Given the description of an element on the screen output the (x, y) to click on. 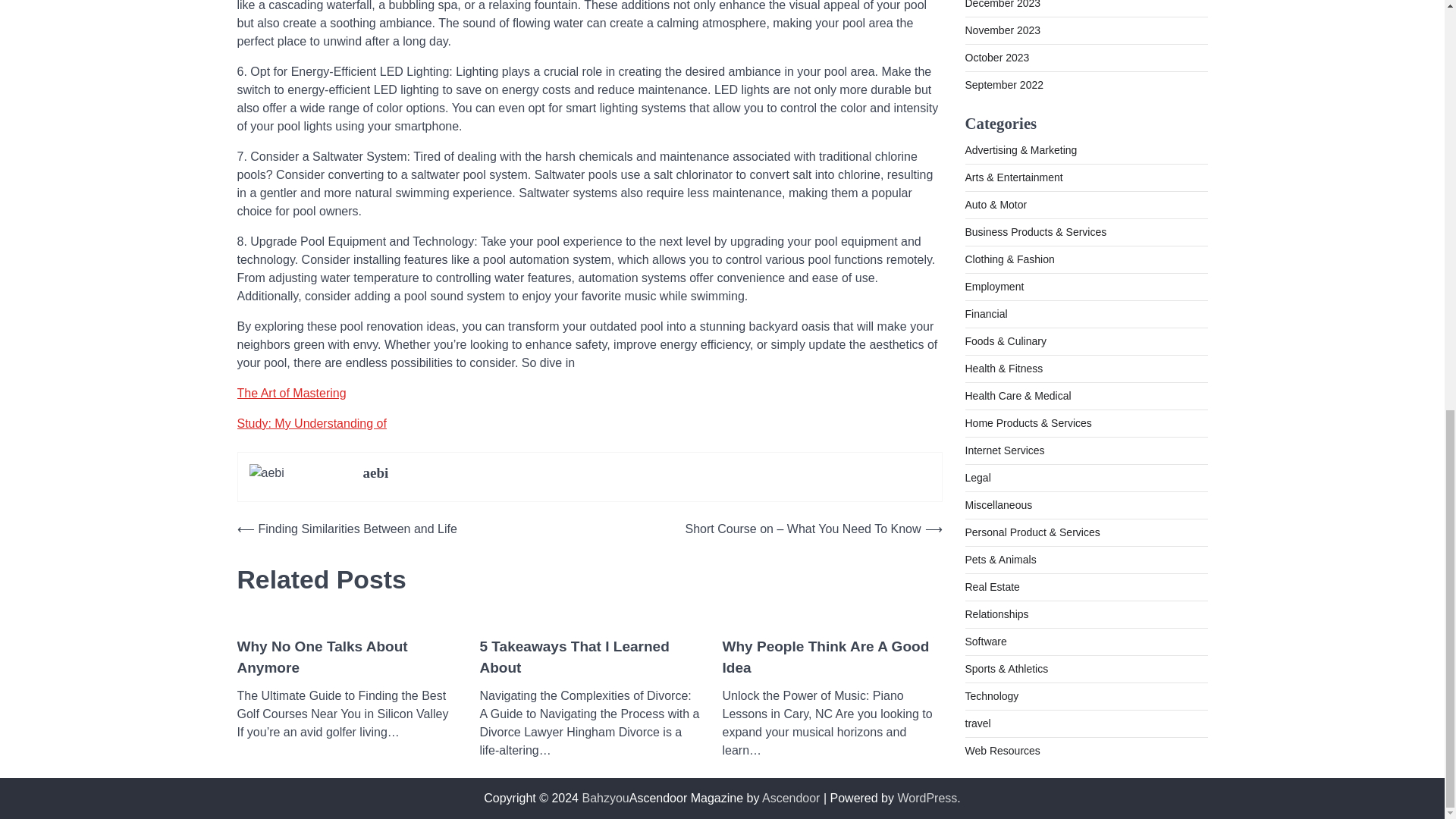
Why No One Talks About Anymore (346, 657)
Employment (993, 181)
Financial (985, 208)
The Art of Mastering (290, 392)
Why People Think Are A Good Idea (832, 657)
Study: My Understanding of (310, 422)
5 Takeaways That I Learned About (588, 657)
